Given the description of an element on the screen output the (x, y) to click on. 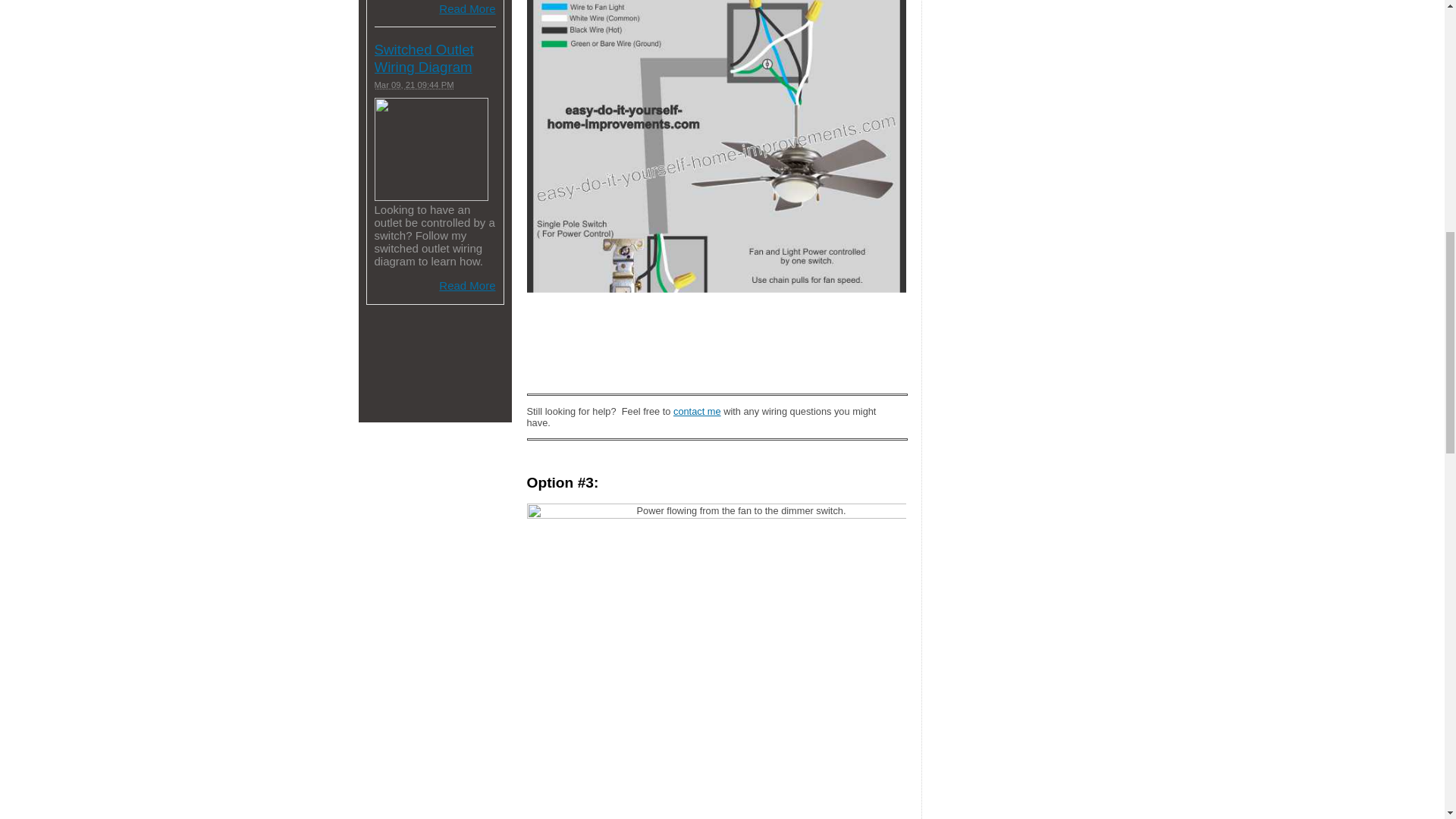
Switched Outlet Wiring Diagram (424, 58)
2021-03-09T21:44:14-0500 (414, 84)
Read More (467, 285)
Power flowing from the fan to the dimmer switch. (715, 661)
contact me (696, 410)
Read More (467, 8)
